Given the description of an element on the screen output the (x, y) to click on. 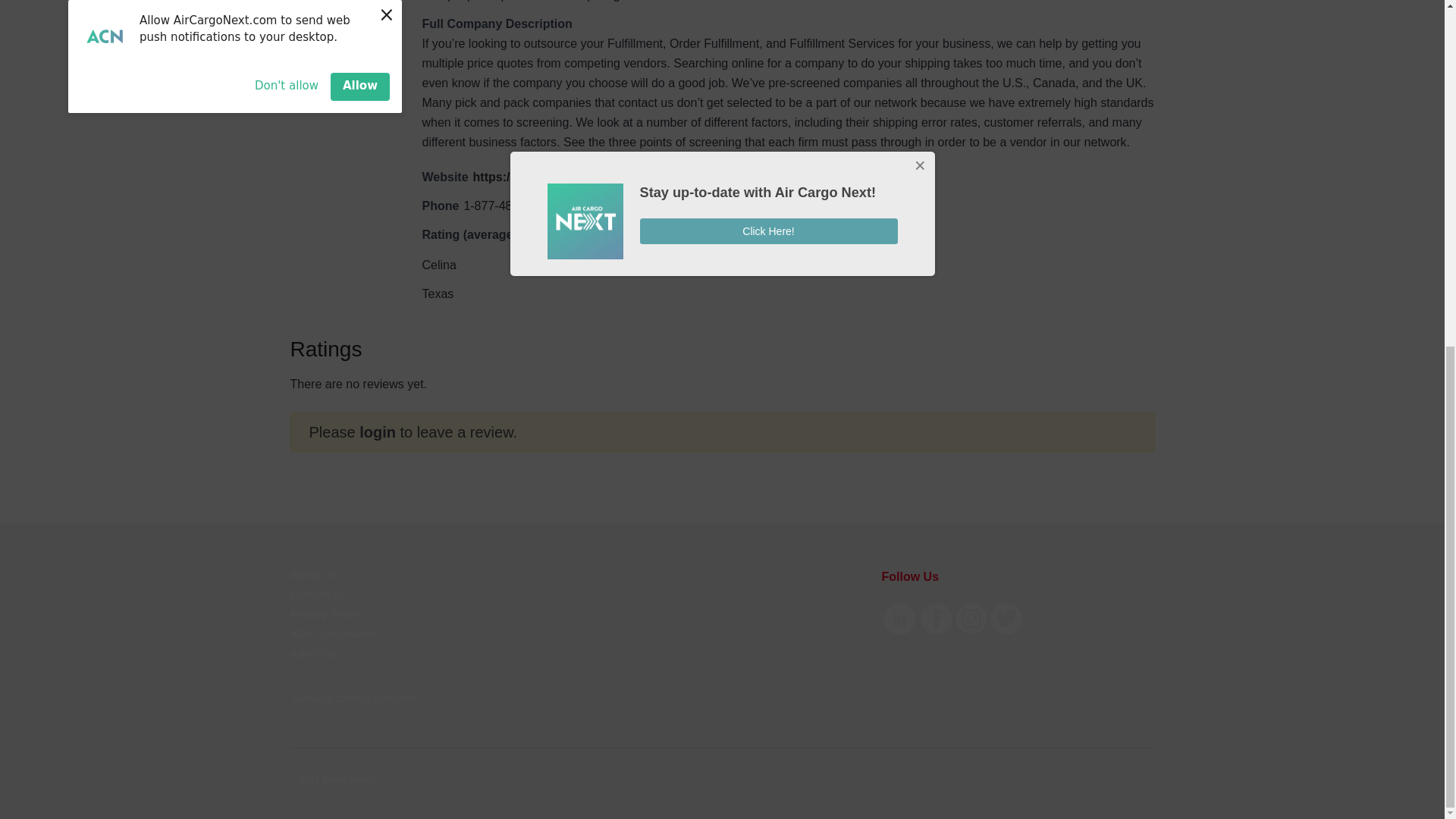
Royal Media (331, 778)
